Given the description of an element on the screen output the (x, y) to click on. 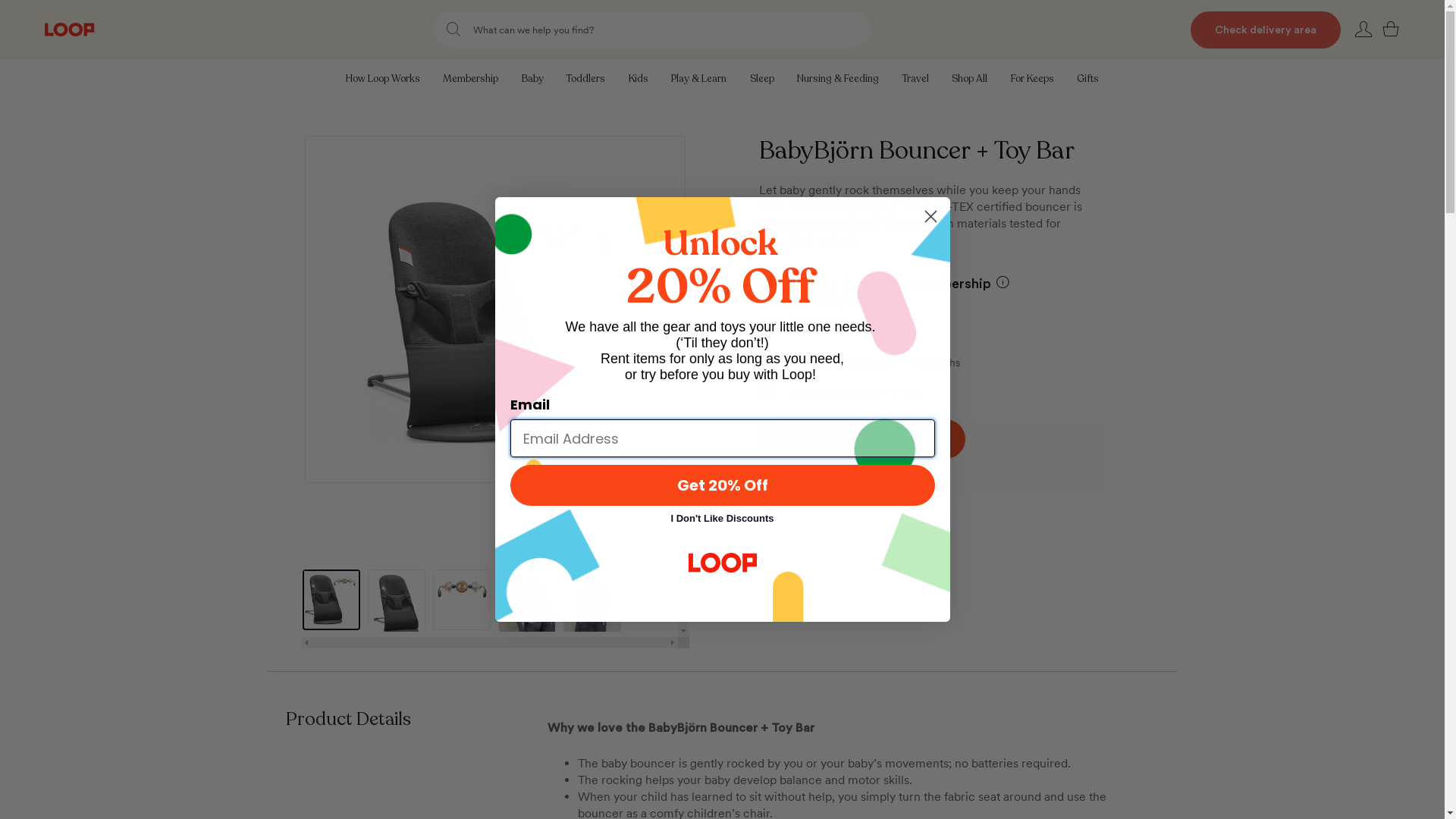
Add To Bag Element type: text (861, 438)
